Given the description of an element on the screen output the (x, y) to click on. 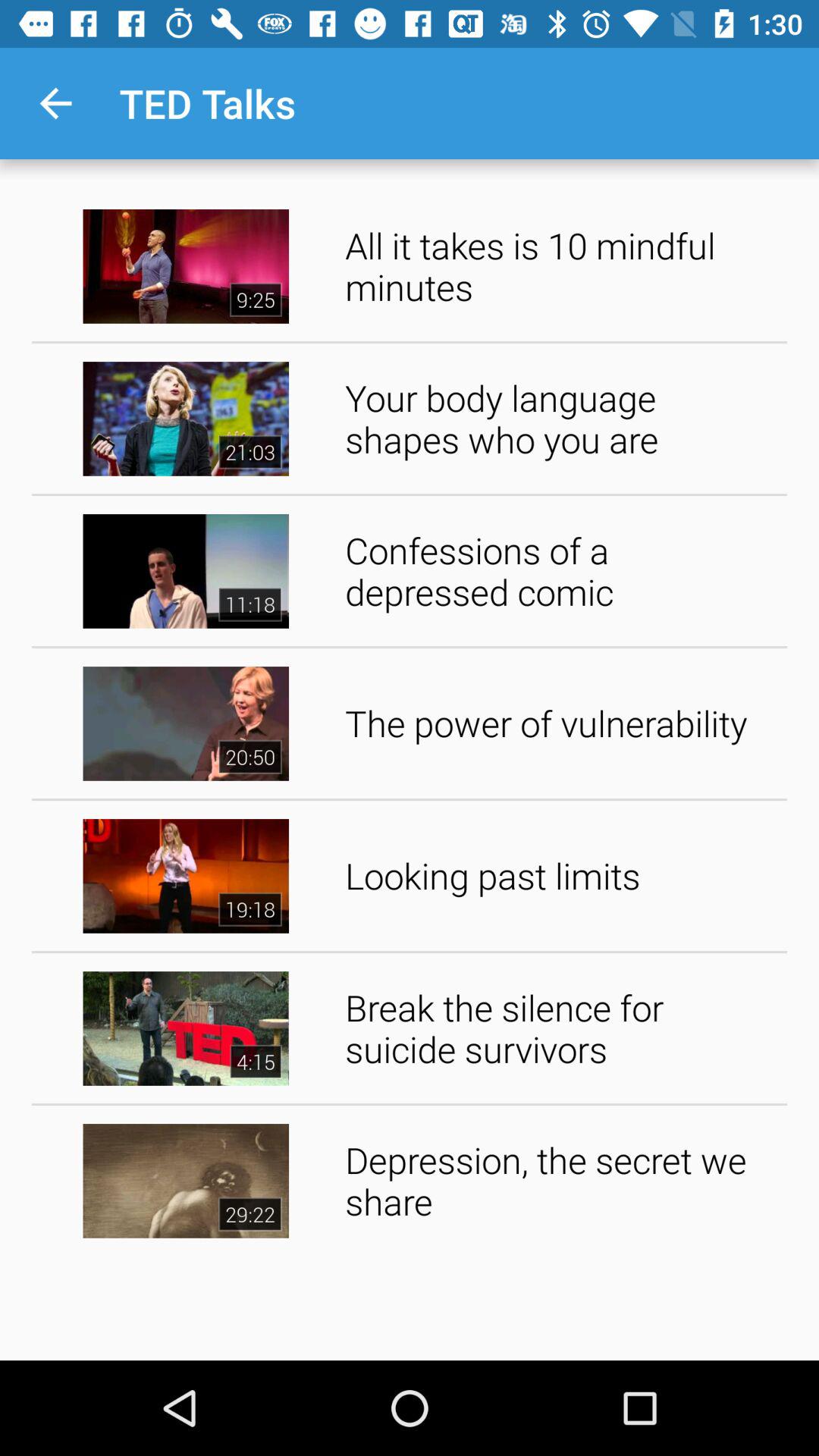
tap the icon above the depression the secret (560, 1028)
